Given the description of an element on the screen output the (x, y) to click on. 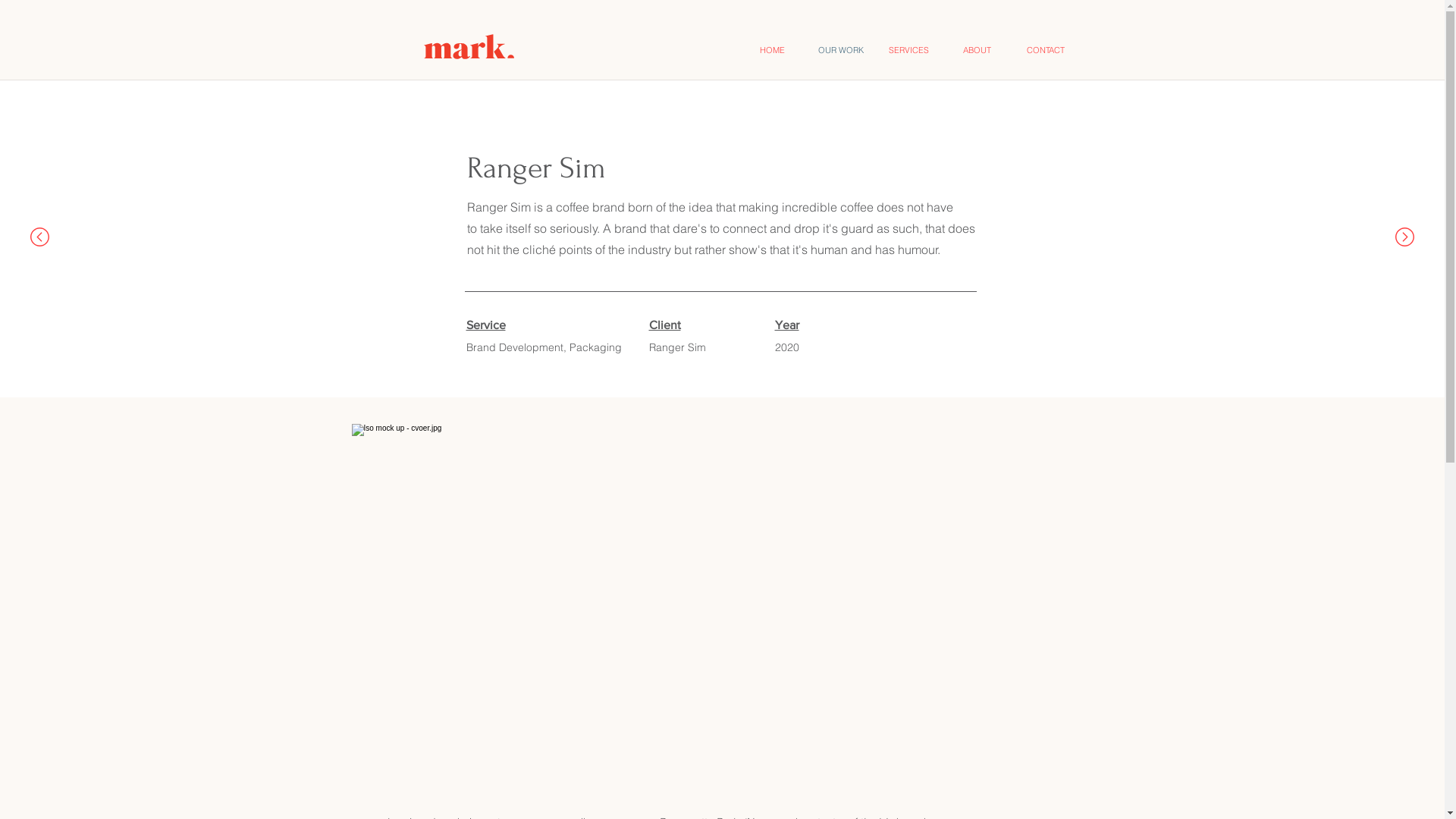
ABOUT Element type: text (977, 50)
HOME Element type: text (772, 50)
CONTACT Element type: text (1045, 50)
OUR WORK Element type: text (840, 50)
SERVICES Element type: text (909, 50)
